Given the description of an element on the screen output the (x, y) to click on. 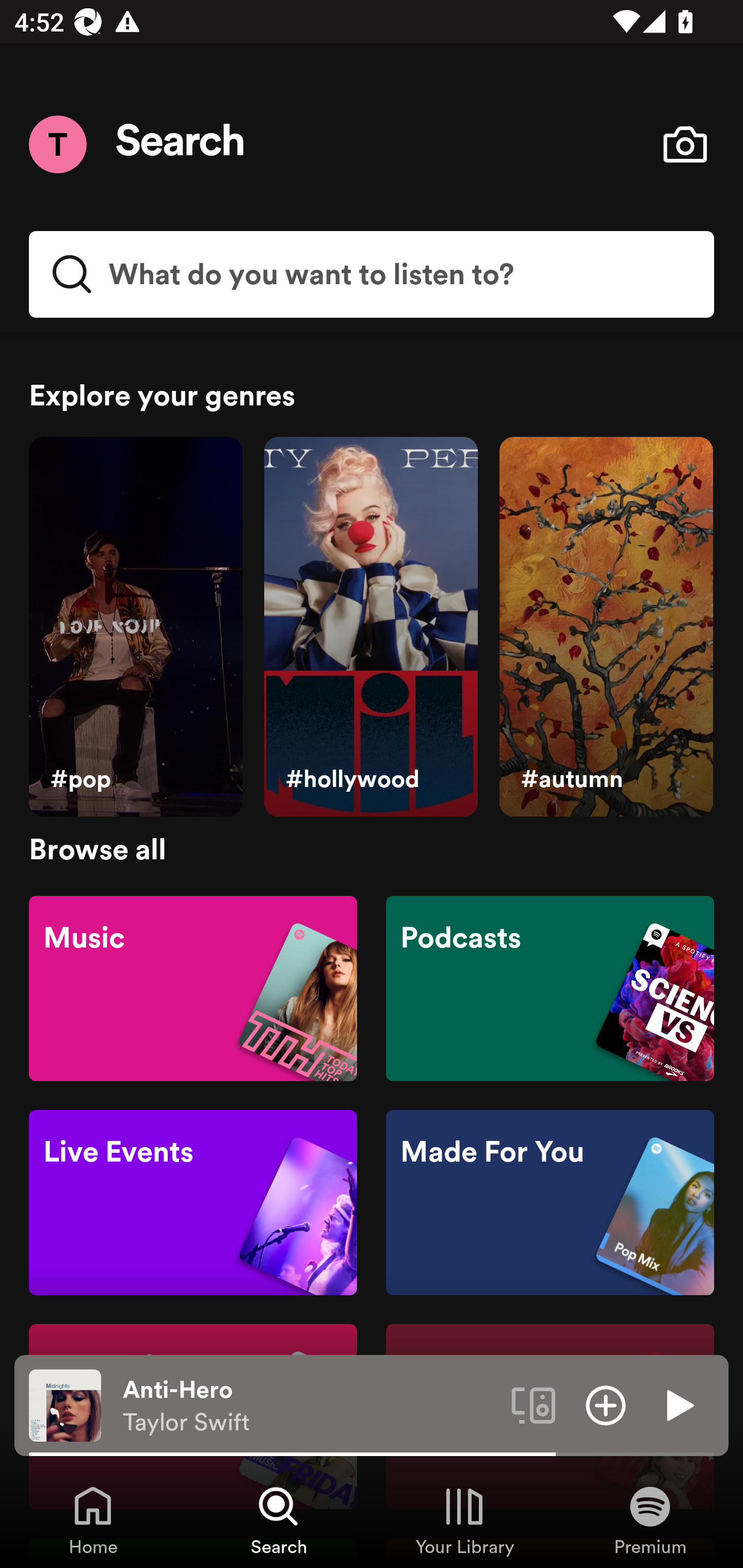
Menu (57, 144)
Open camera (685, 145)
Search (180, 144)
#pop (135, 626)
#hollywood (370, 626)
#autumn (606, 626)
Music (192, 987)
Podcasts (549, 987)
Live Events (192, 1202)
Made For You (549, 1202)
Anti-Hero Taylor Swift (309, 1405)
The cover art of the currently playing track (64, 1404)
Connect to a device. Opens the devices menu (533, 1404)
Add item (605, 1404)
Play (677, 1404)
Home, Tab 1 of 4 Home Home (92, 1519)
Search, Tab 2 of 4 Search Search (278, 1519)
Your Library, Tab 3 of 4 Your Library Your Library (464, 1519)
Premium, Tab 4 of 4 Premium Premium (650, 1519)
